Given the description of an element on the screen output the (x, y) to click on. 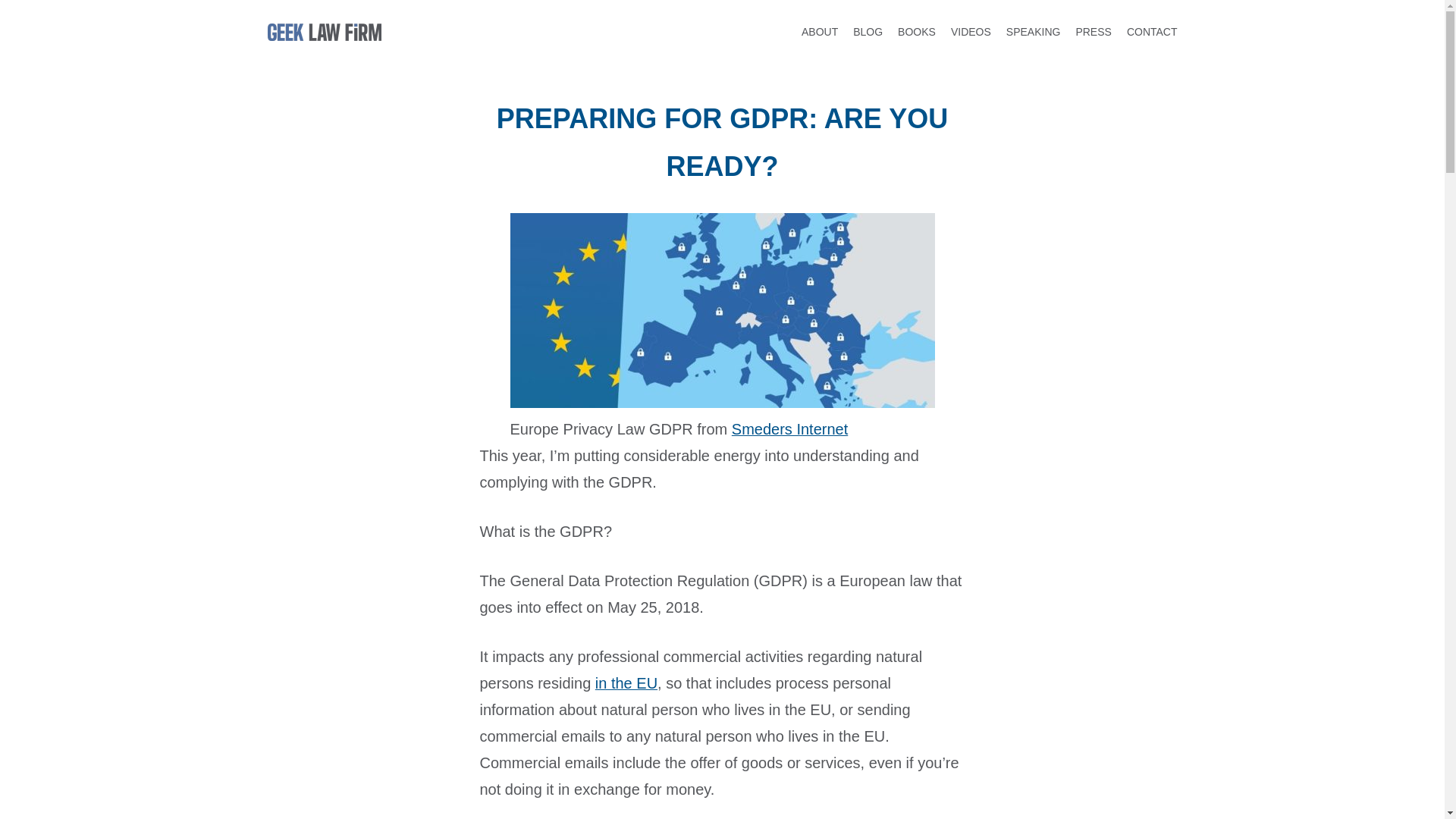
in the EU (626, 682)
BLOG (867, 31)
BOOKS (917, 31)
Smeders Internet (789, 428)
ABOUT (820, 31)
SPEAKING (1033, 31)
CONTACT (1151, 31)
VIDEOS (970, 31)
PRESS (1092, 31)
